Given the description of an element on the screen output the (x, y) to click on. 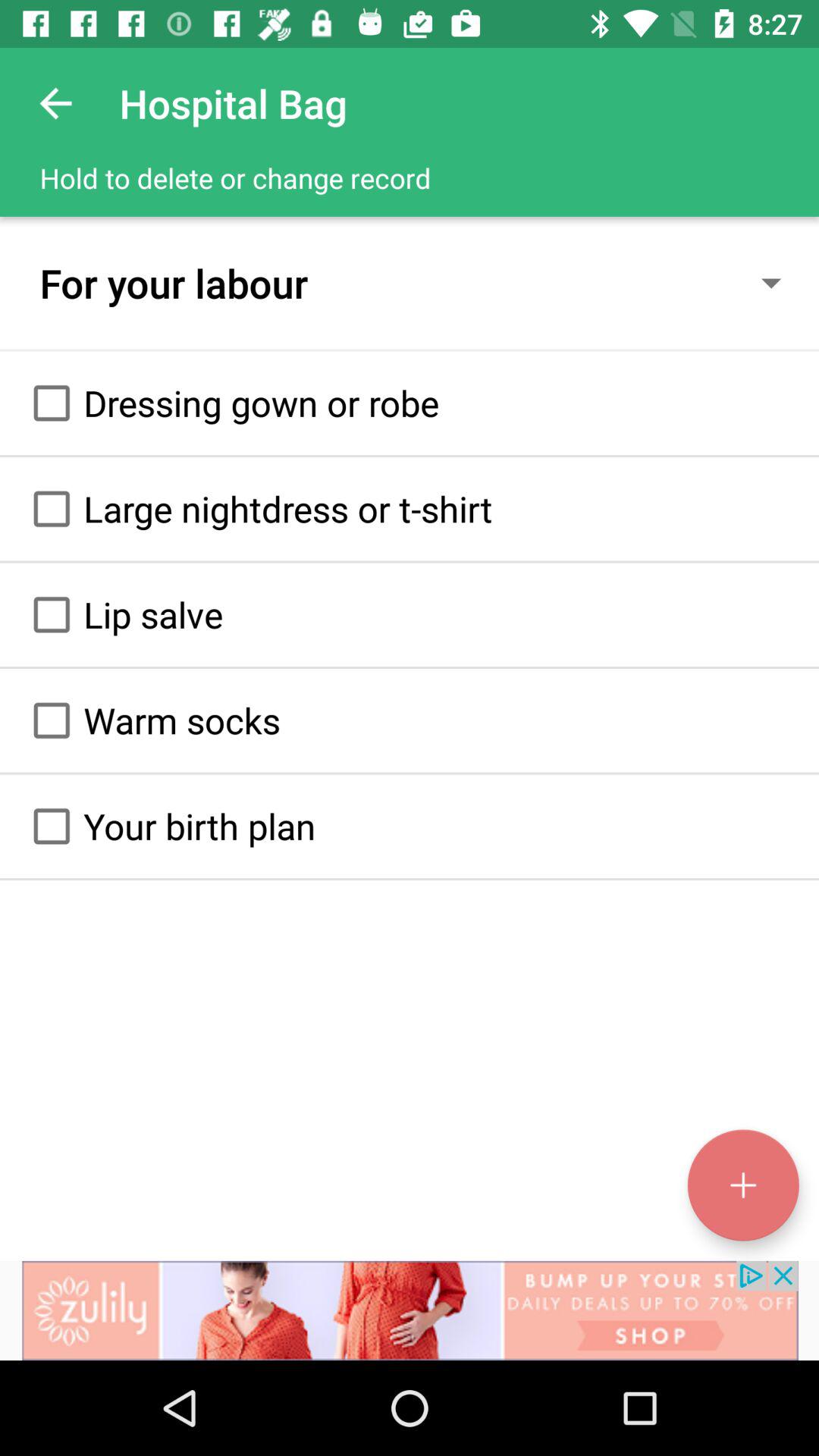
select warm socks (51, 720)
